Given the description of an element on the screen output the (x, y) to click on. 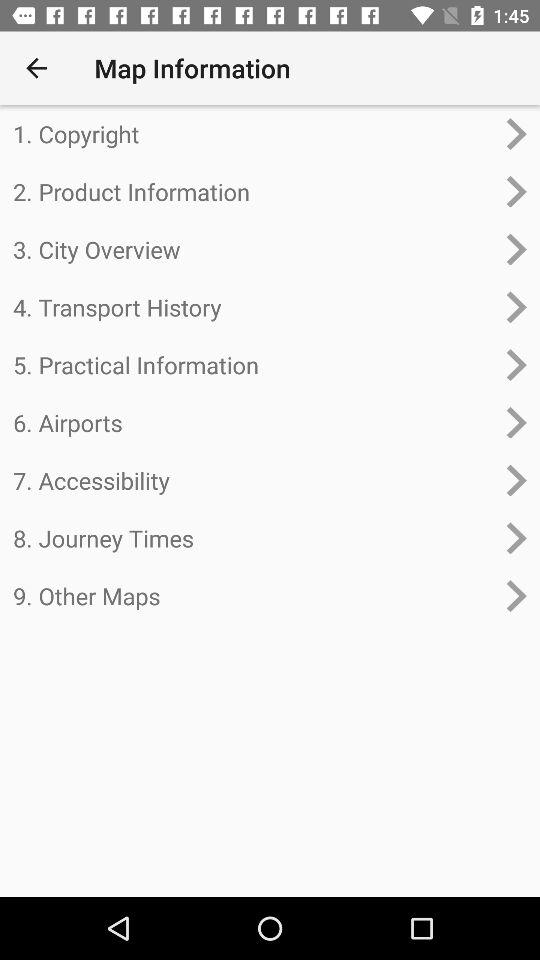
turn on the icon below the 8. journey times item (253, 595)
